Given the description of an element on the screen output the (x, y) to click on. 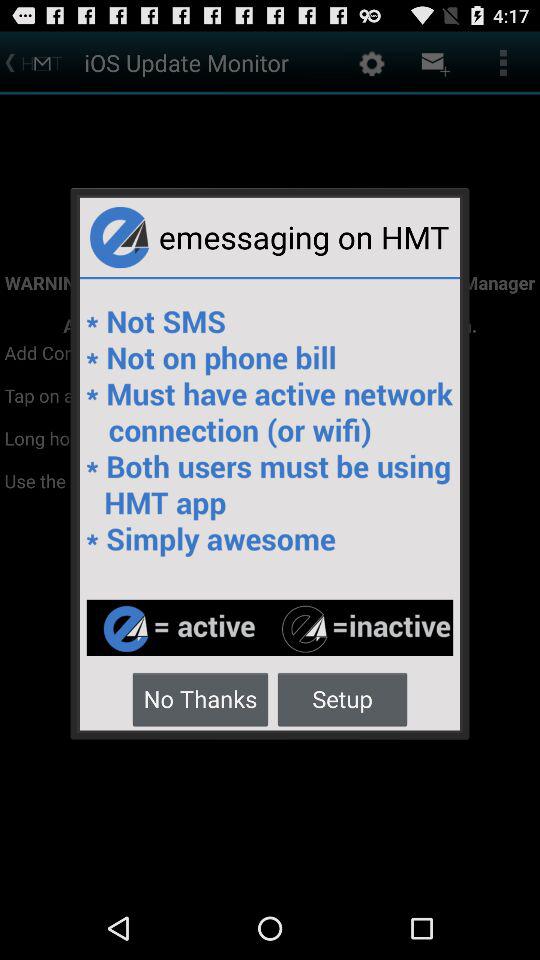
press the item to the left of the setup (200, 698)
